Given the description of an element on the screen output the (x, y) to click on. 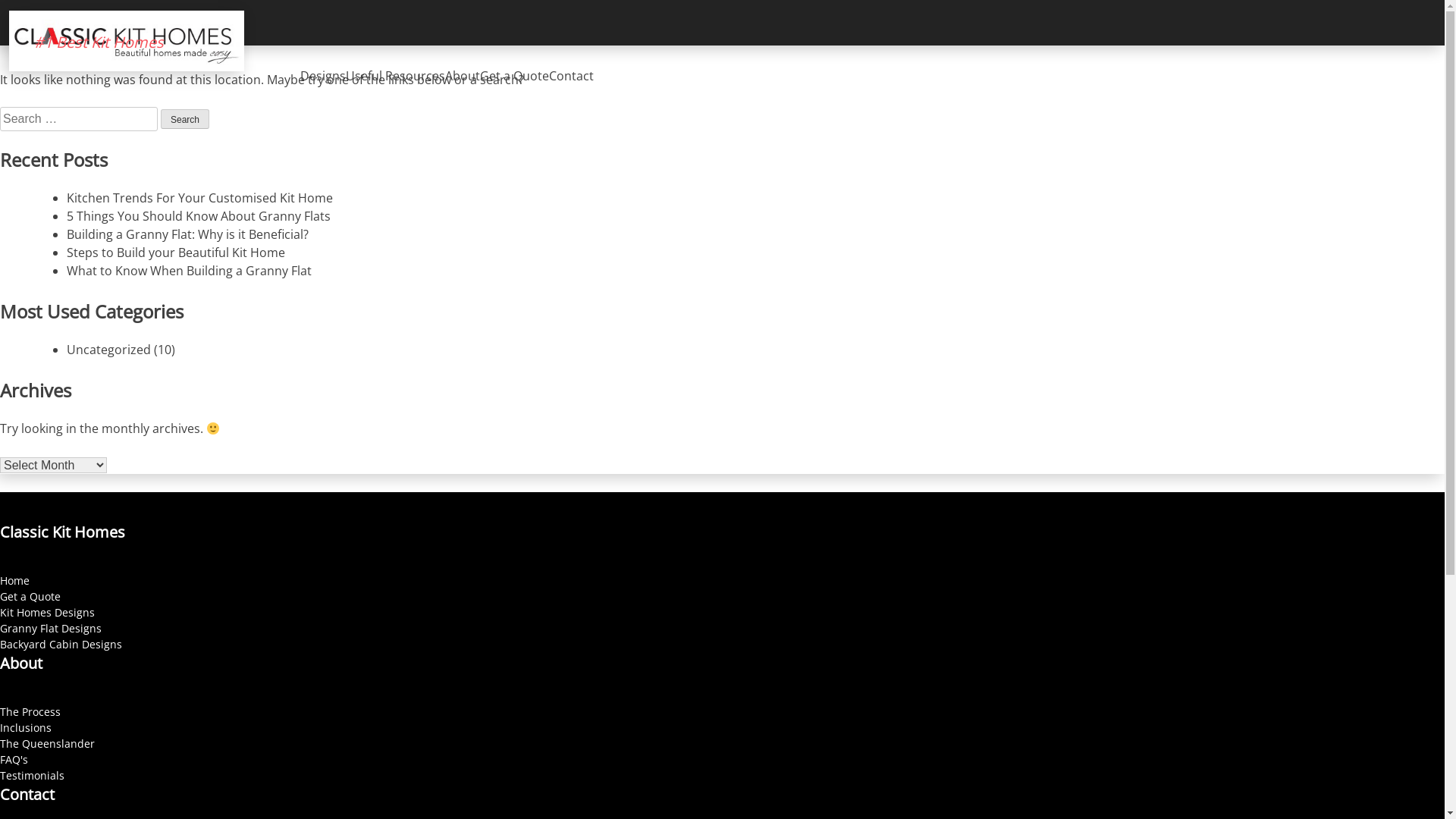
Testimonials Element type: text (32, 775)
Backyard Cabin Designs Element type: text (61, 644)
5 Things You Should Know About Granny Flats Element type: text (198, 215)
What to Know When Building a Granny Flat Element type: text (188, 270)
Building a Granny Flat: Why is it Beneficial? Element type: text (187, 233)
Useful Resources Element type: text (395, 75)
Uncategorized Element type: text (108, 349)
Steps to Build your Beautiful Kit Home Element type: text (175, 252)
The Queenslander Element type: text (47, 743)
Granny Flat Designs Element type: text (50, 628)
About Element type: text (462, 75)
Search Element type: text (184, 118)
Inclusions Element type: text (25, 727)
Get a Quote Element type: text (30, 596)
Kit Homes Designs Element type: text (47, 612)
FAQ's Element type: text (14, 759)
Designs Element type: text (322, 75)
Kitchen Trends For Your Customised Kit Home Element type: text (199, 197)
Home Element type: text (14, 580)
Get a Quote Element type: text (514, 75)
Contact Element type: text (571, 75)
The Process Element type: text (30, 711)
